Given the description of an element on the screen output the (x, y) to click on. 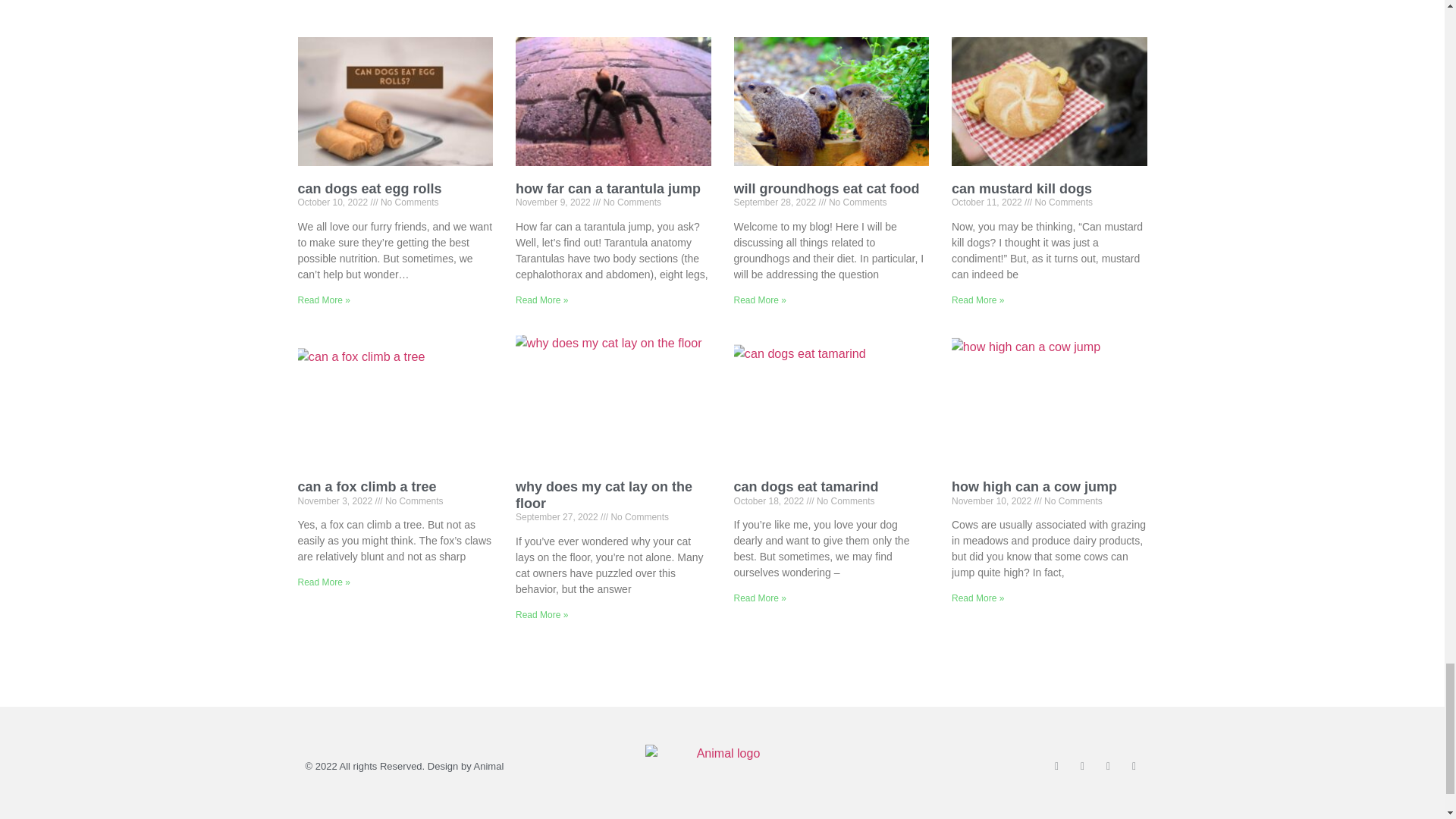
why does my cat lay on the floor (604, 495)
can dogs eat egg rolls (369, 188)
will groundhogs eat cat food (826, 188)
can dogs eat tamarind (806, 486)
can a fox climb a tree (366, 486)
can mustard kill dogs (1022, 188)
how high can a cow jump (1034, 486)
how far can a tarantula jump (607, 188)
